Given the description of an element on the screen output the (x, y) to click on. 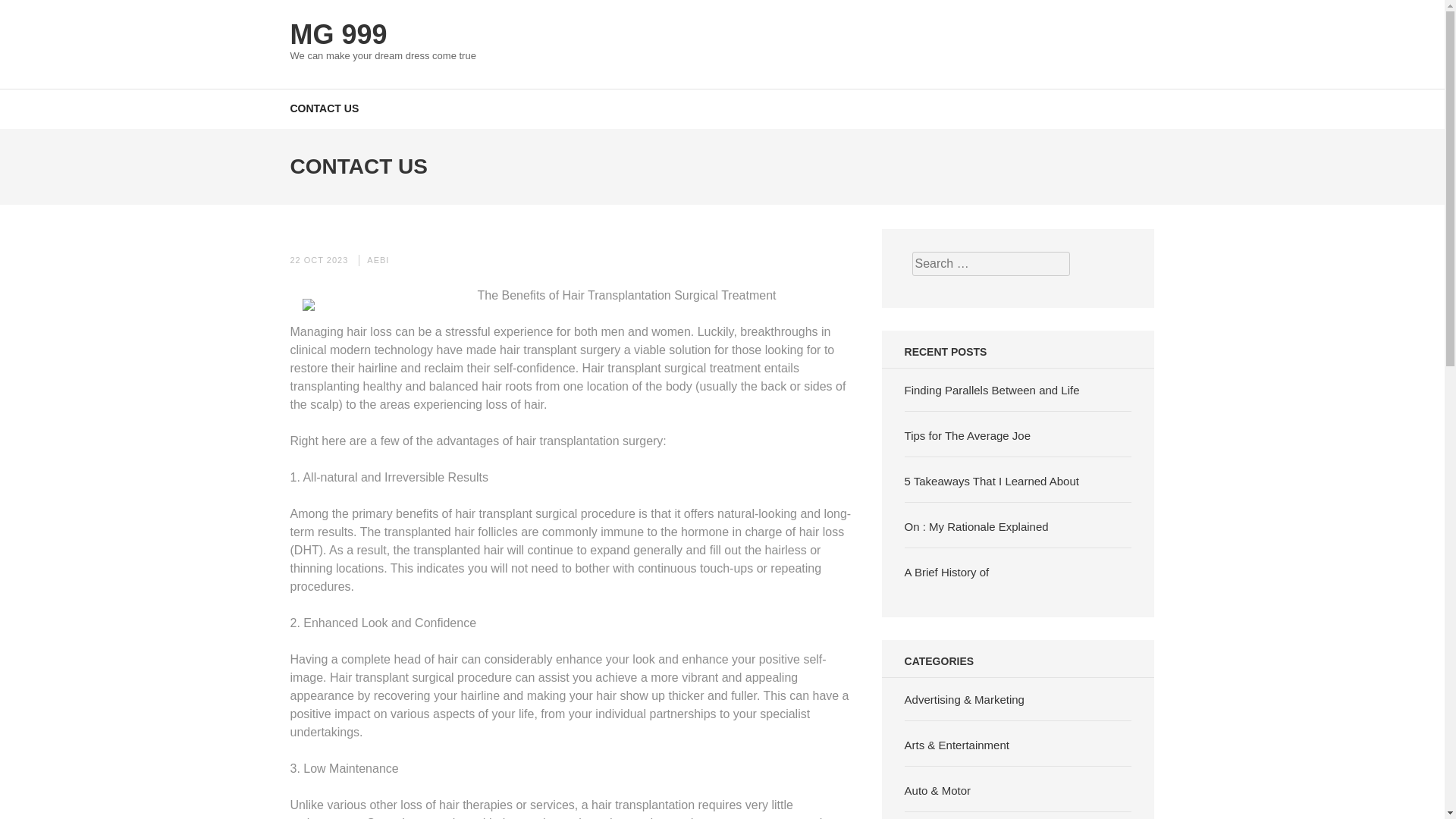
5 Takeaways That I Learned About (991, 481)
MG 999 (338, 33)
22 OCT 2023 (318, 258)
A Brief History of (947, 571)
Search (1428, 19)
On : My Rationale Explained (976, 526)
Tips for The Average Joe (967, 435)
Finding Parallels Between and Life (992, 390)
CONTACT US (323, 108)
AEBI (377, 258)
